Given the description of an element on the screen output the (x, y) to click on. 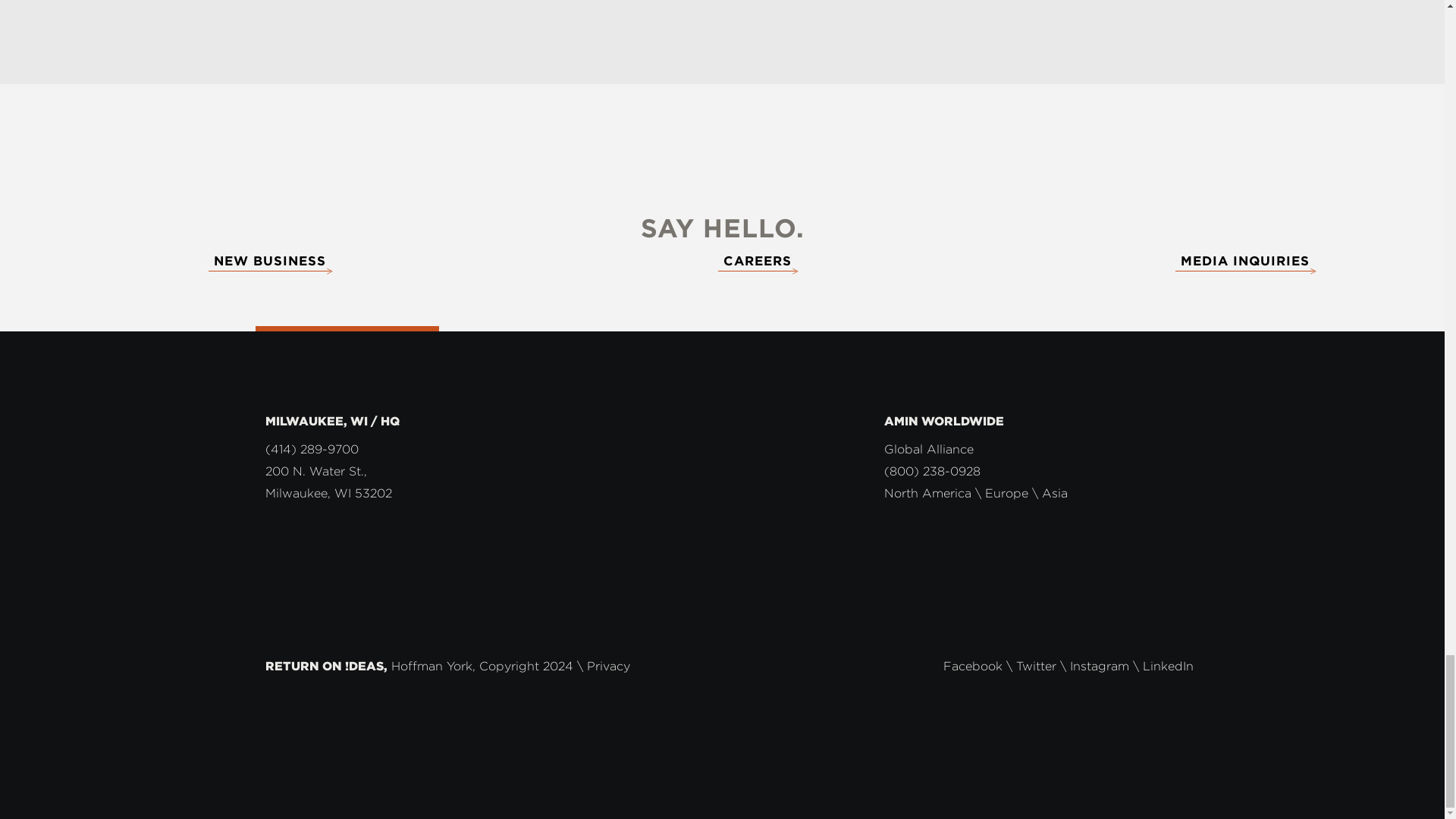
Privacy (608, 666)
LinkedIn (1167, 666)
